Given the description of an element on the screen output the (x, y) to click on. 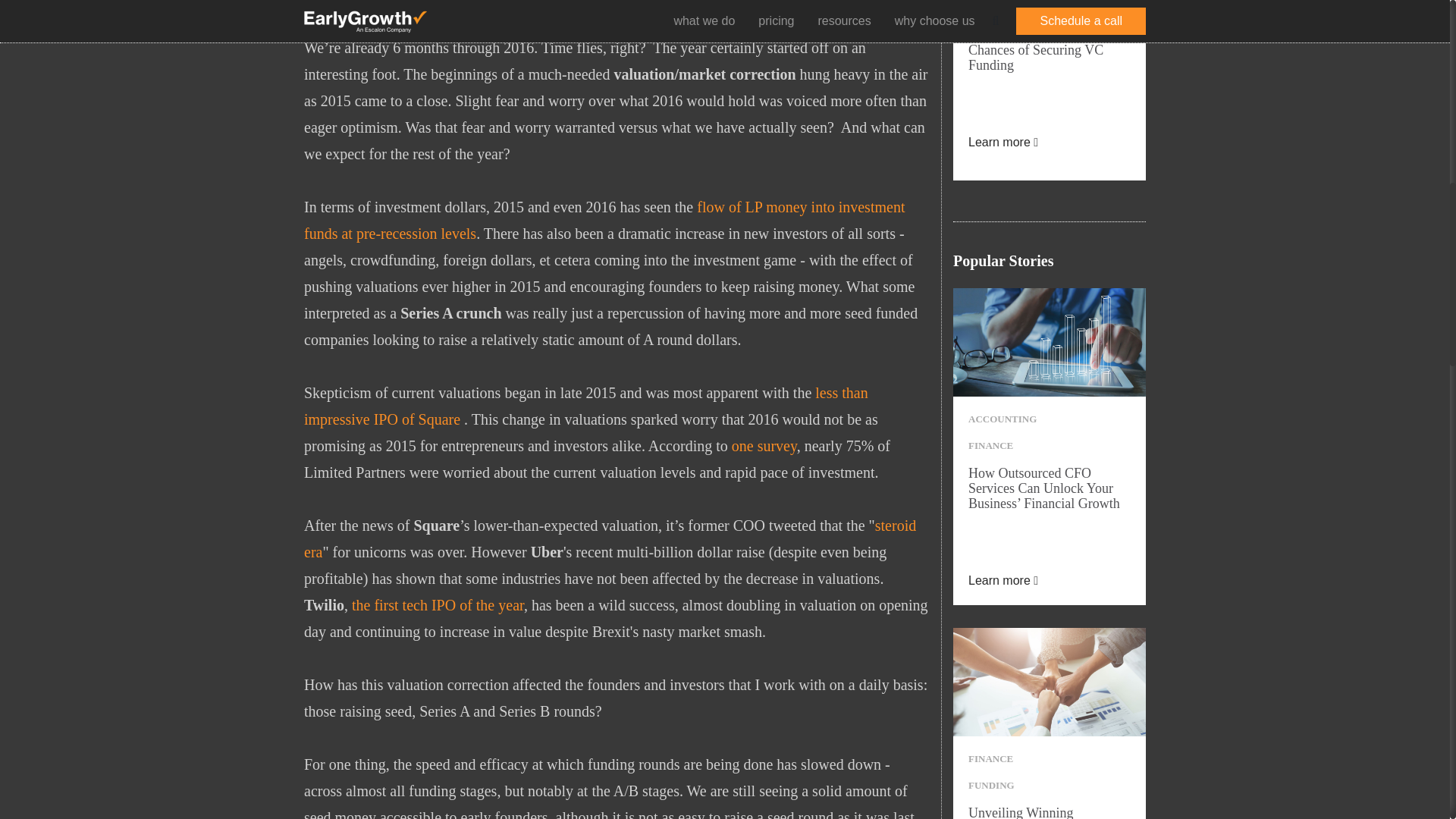
Business Financial Growth (1049, 342)
